Given the description of an element on the screen output the (x, y) to click on. 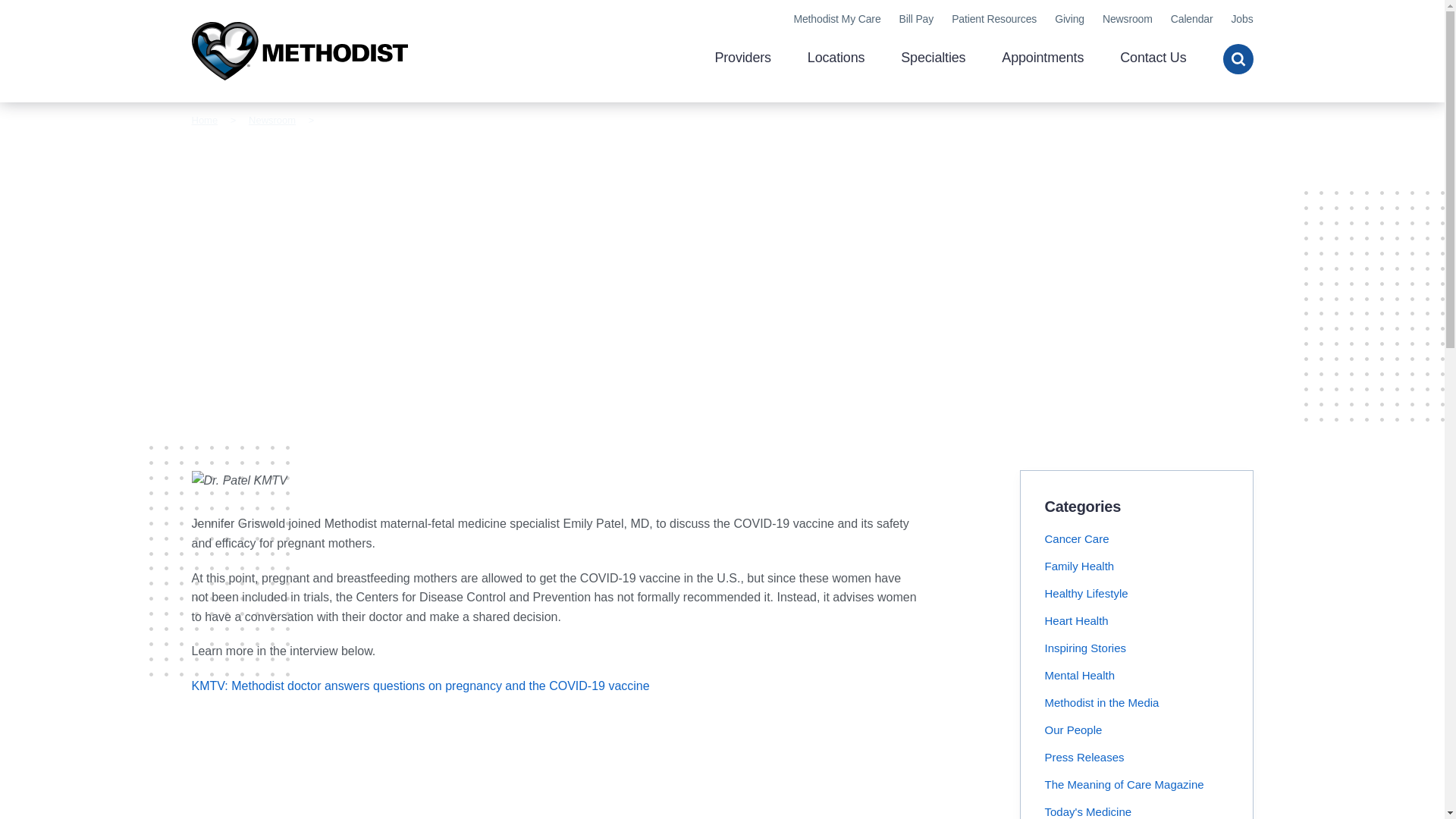
Appointments (1042, 59)
Giving (1069, 19)
Family Health (1080, 565)
Cancer Care (1077, 538)
Skip to main content (721, 6)
Press Releases (1084, 757)
Specialties (933, 59)
Jobs (1241, 19)
Mental Health (1080, 675)
Bill Pay (916, 19)
Healthy Lifestyle (1086, 593)
Providers (742, 59)
Our People (1073, 729)
Newsroom (271, 120)
